Given the description of an element on the screen output the (x, y) to click on. 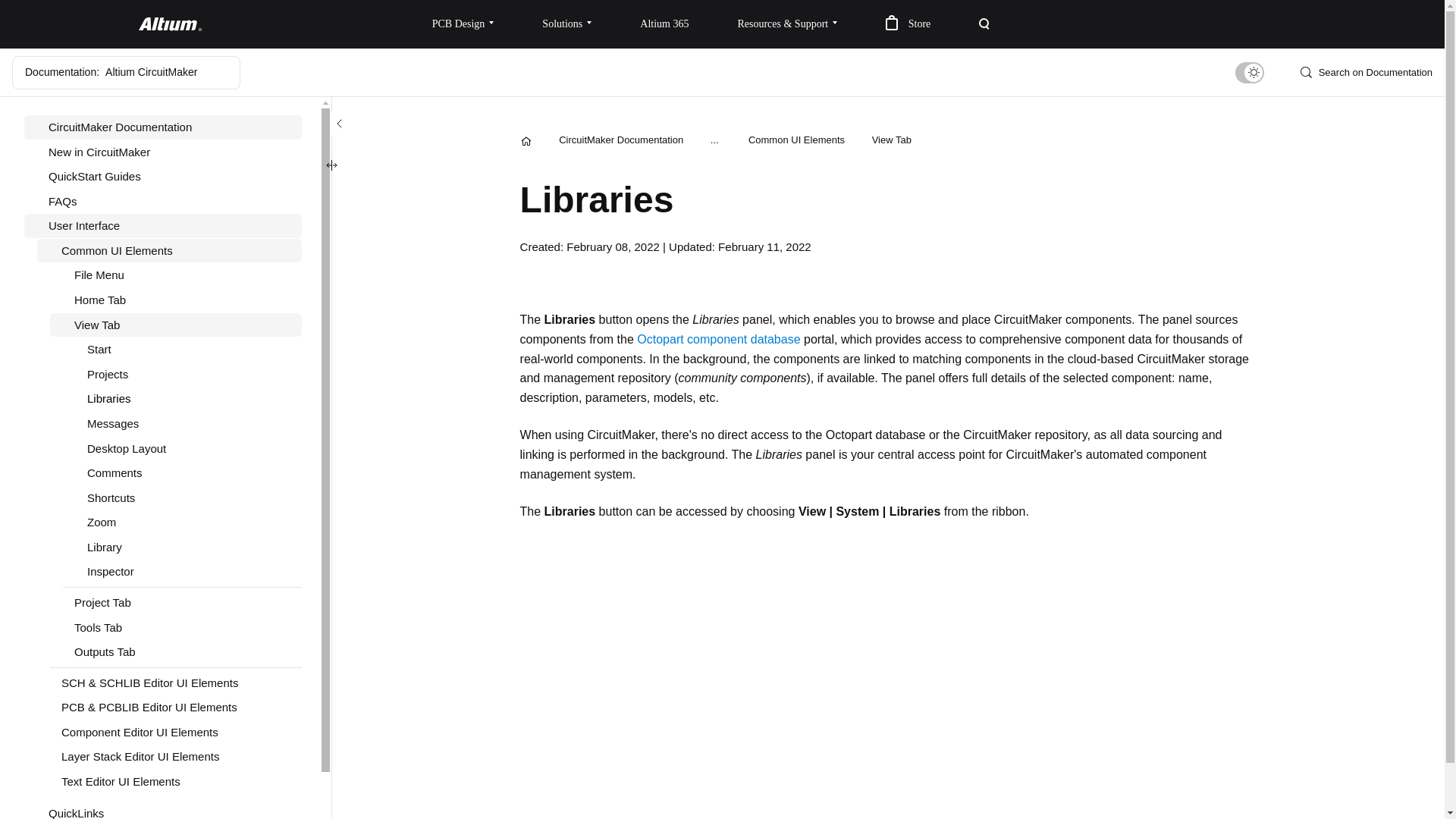
Solutions (566, 24)
Store (908, 24)
Altium 365 (664, 24)
Search Open (984, 24)
PCB Design (462, 24)
